Given the description of an element on the screen output the (x, y) to click on. 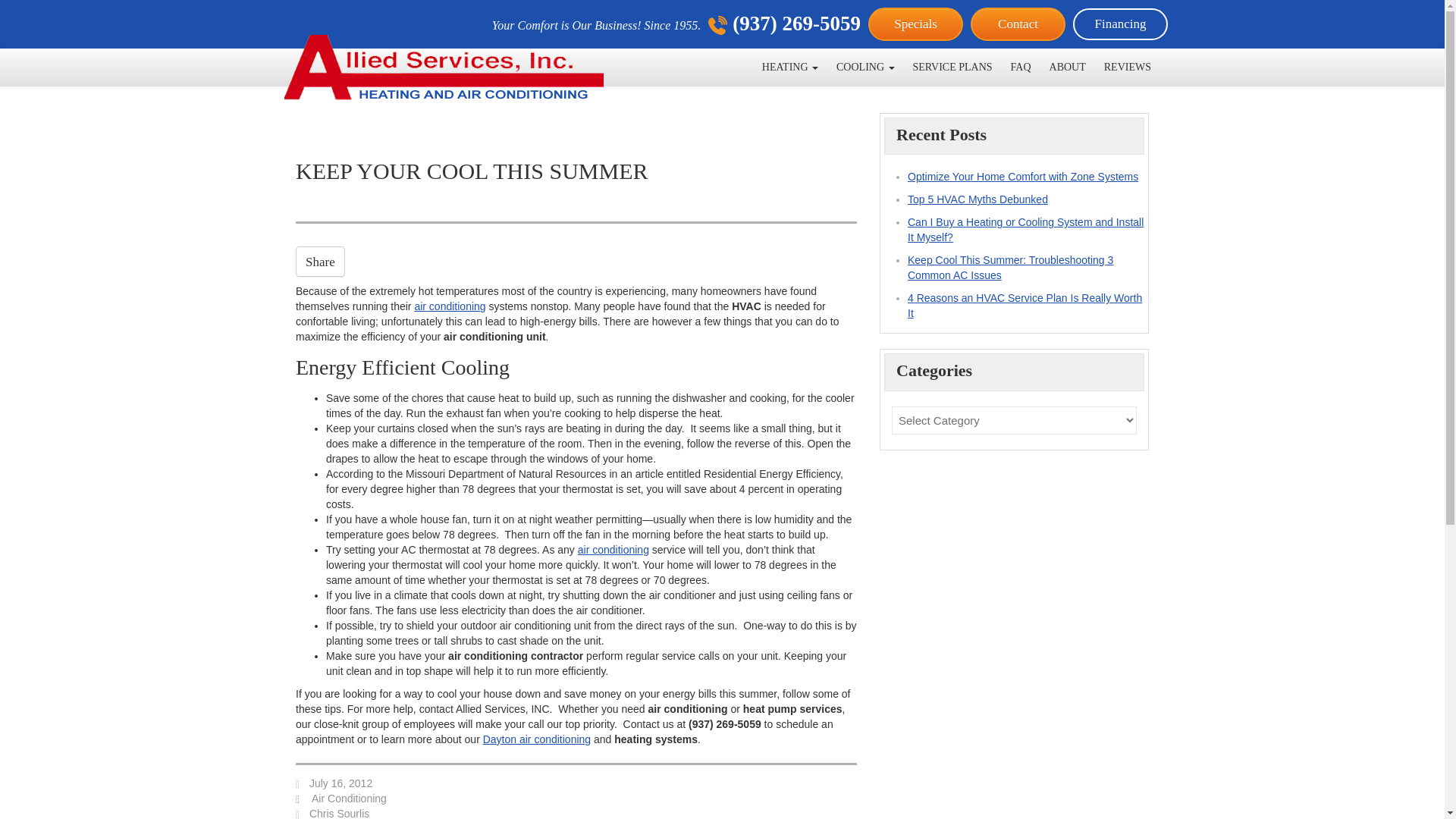
View all posts by Chris Sourlis (338, 813)
Permalink to Keep Your Cool This Summer (340, 783)
